Given the description of an element on the screen output the (x, y) to click on. 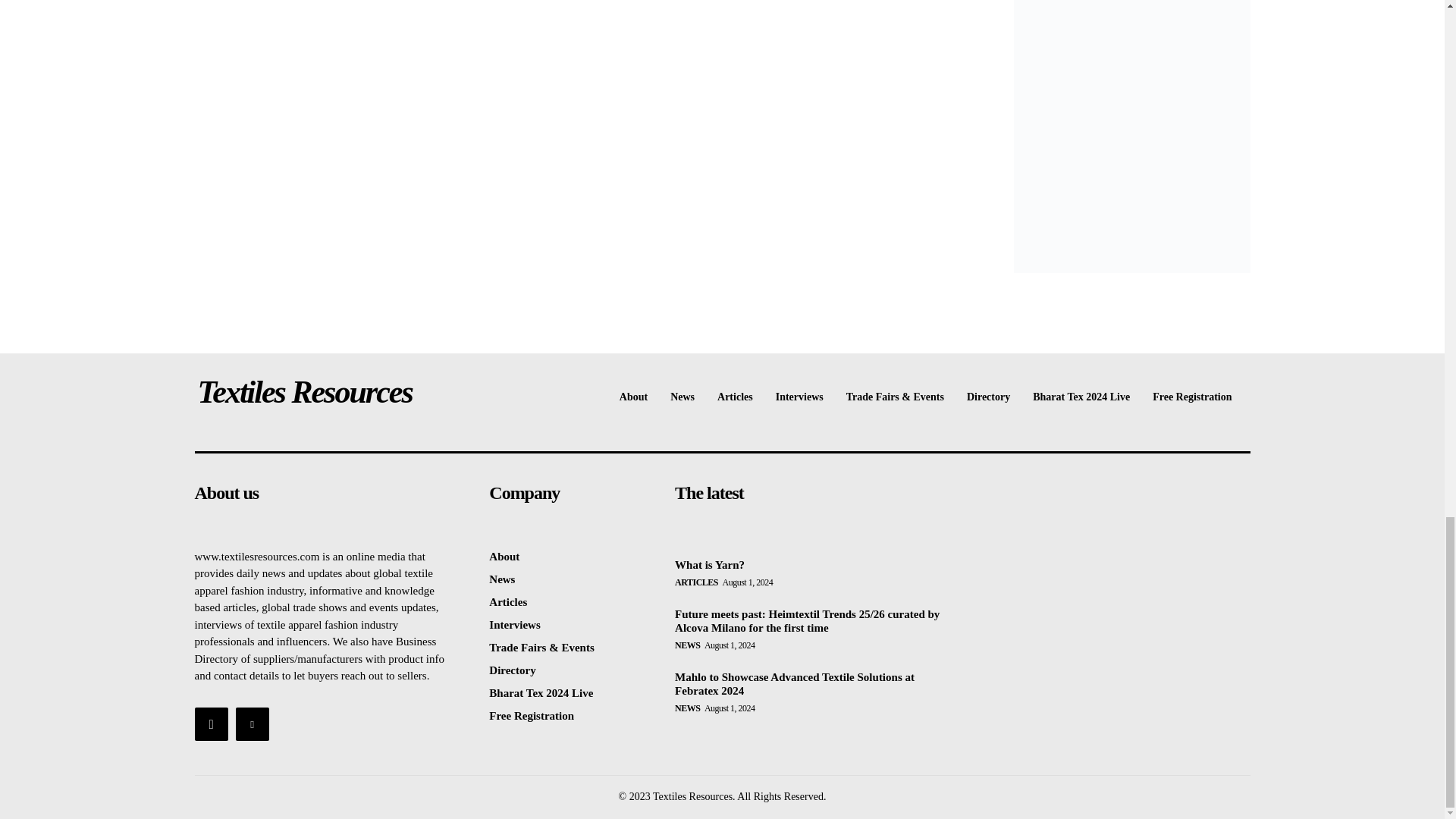
YouTube (210, 724)
